Given the description of an element on the screen output the (x, y) to click on. 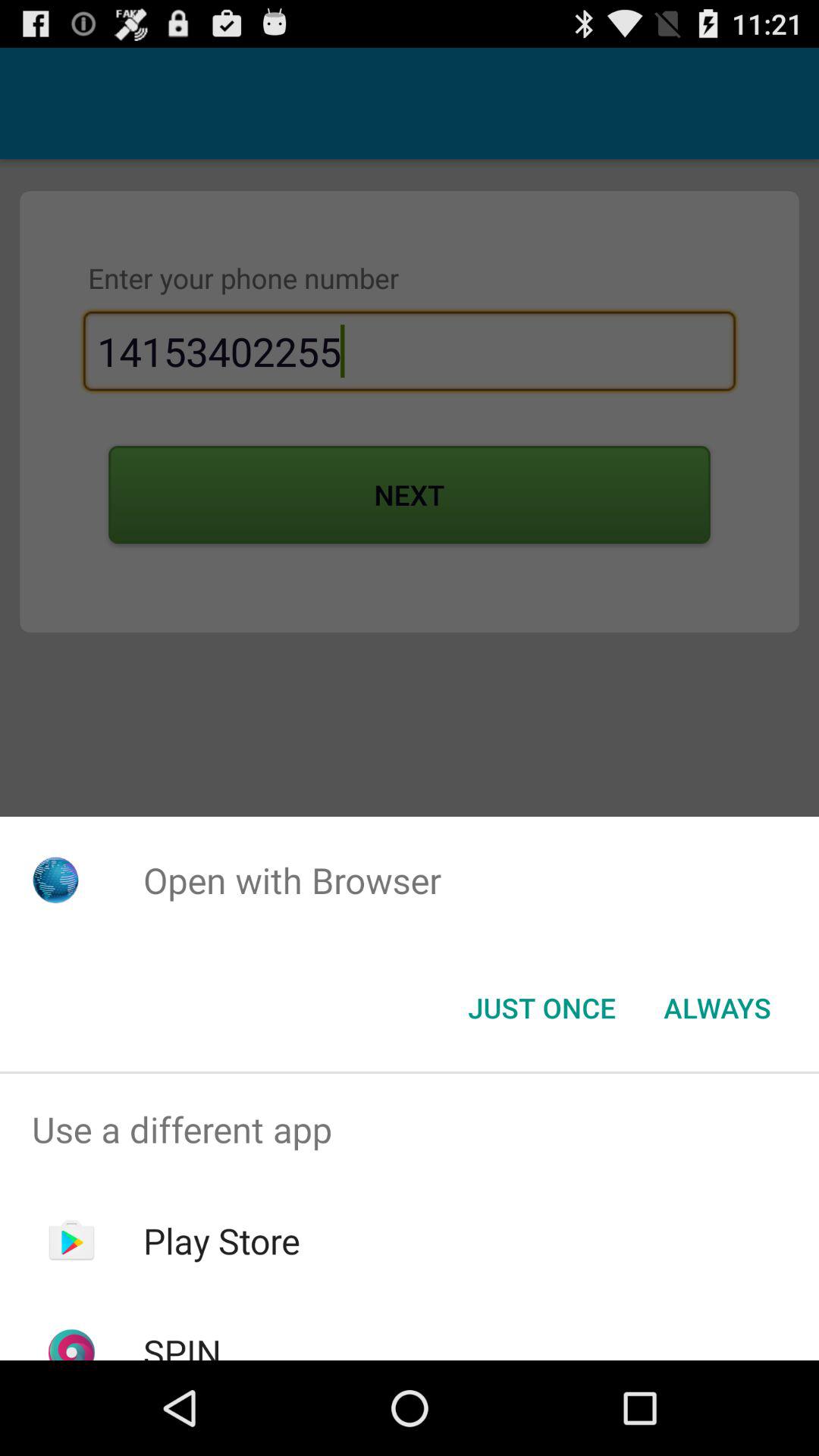
flip to use a different app (409, 1129)
